Given the description of an element on the screen output the (x, y) to click on. 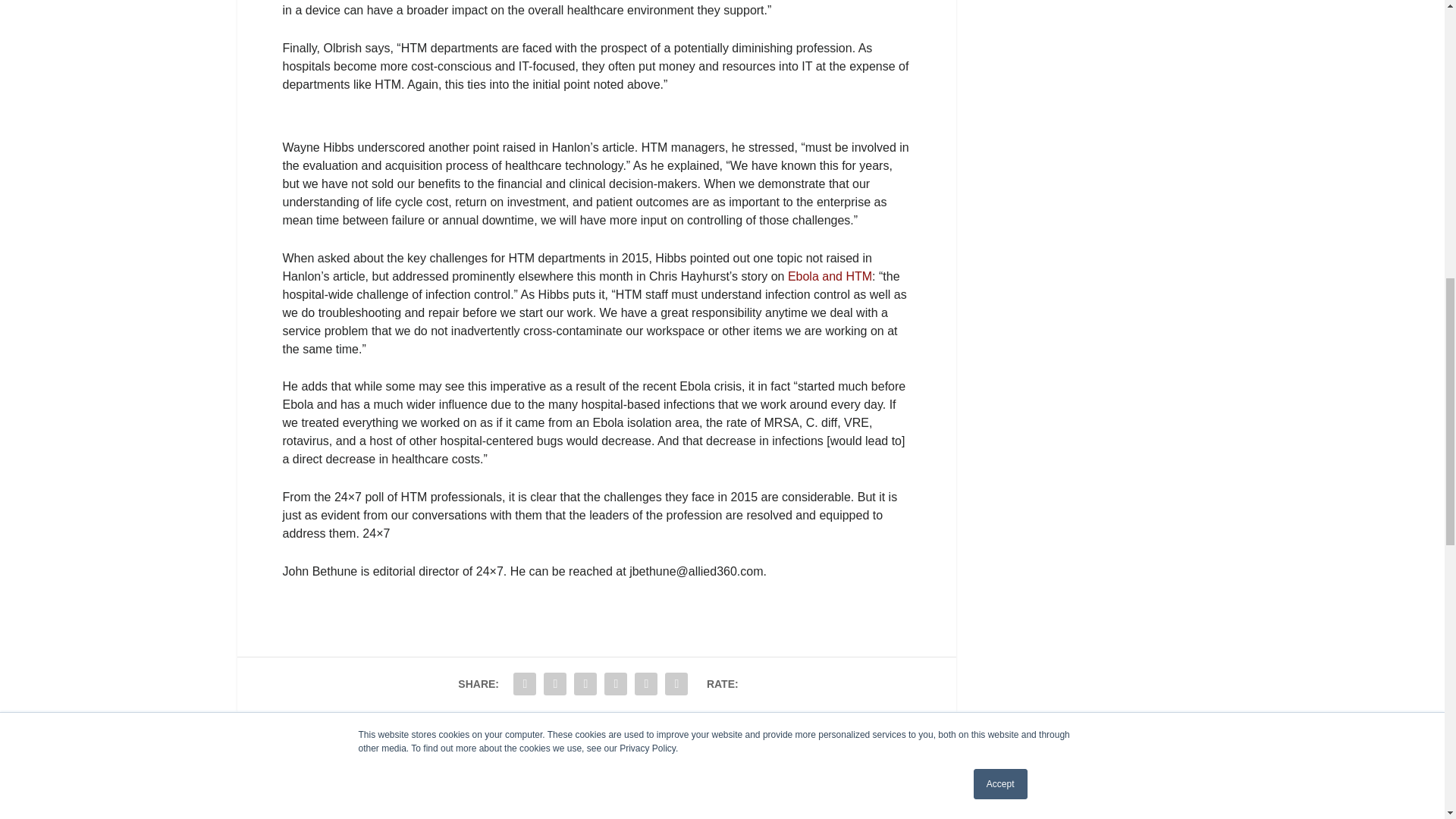
HTM and Ebola: Best Practices (829, 276)
